Given the description of an element on the screen output the (x, y) to click on. 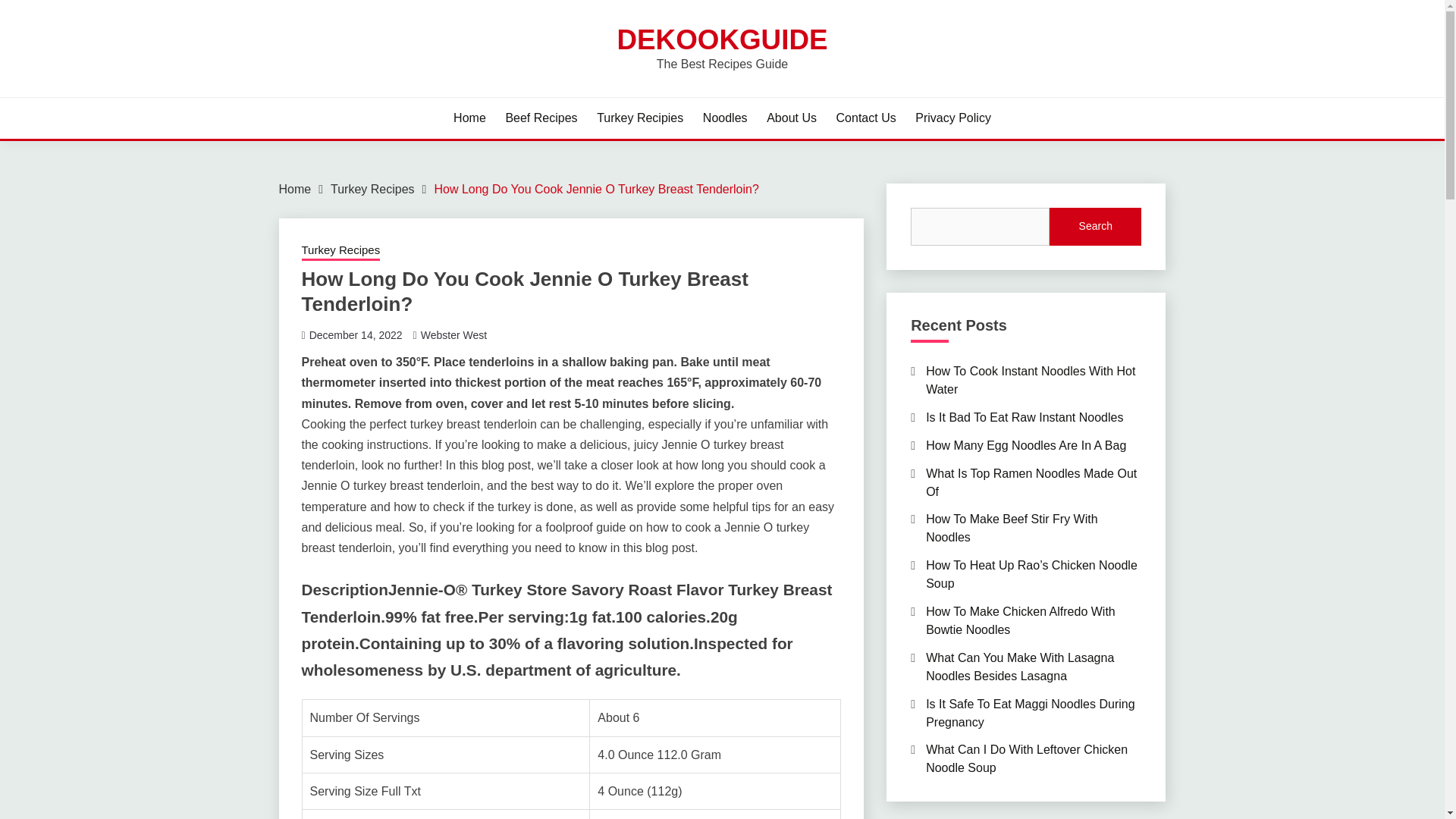
How Long Do You Cook Jennie O Turkey Breast Tenderloin? (595, 188)
Search (1095, 226)
Turkey Recipes (340, 251)
How To Make Beef Stir Fry With Noodles (1011, 527)
How Many Egg Noodles Are In A Bag (1025, 445)
Beef Recipes (540, 117)
Home (295, 188)
About Us (791, 117)
Is It Bad To Eat Raw Instant Noodles (1024, 417)
Webster West (453, 335)
